Given the description of an element on the screen output the (x, y) to click on. 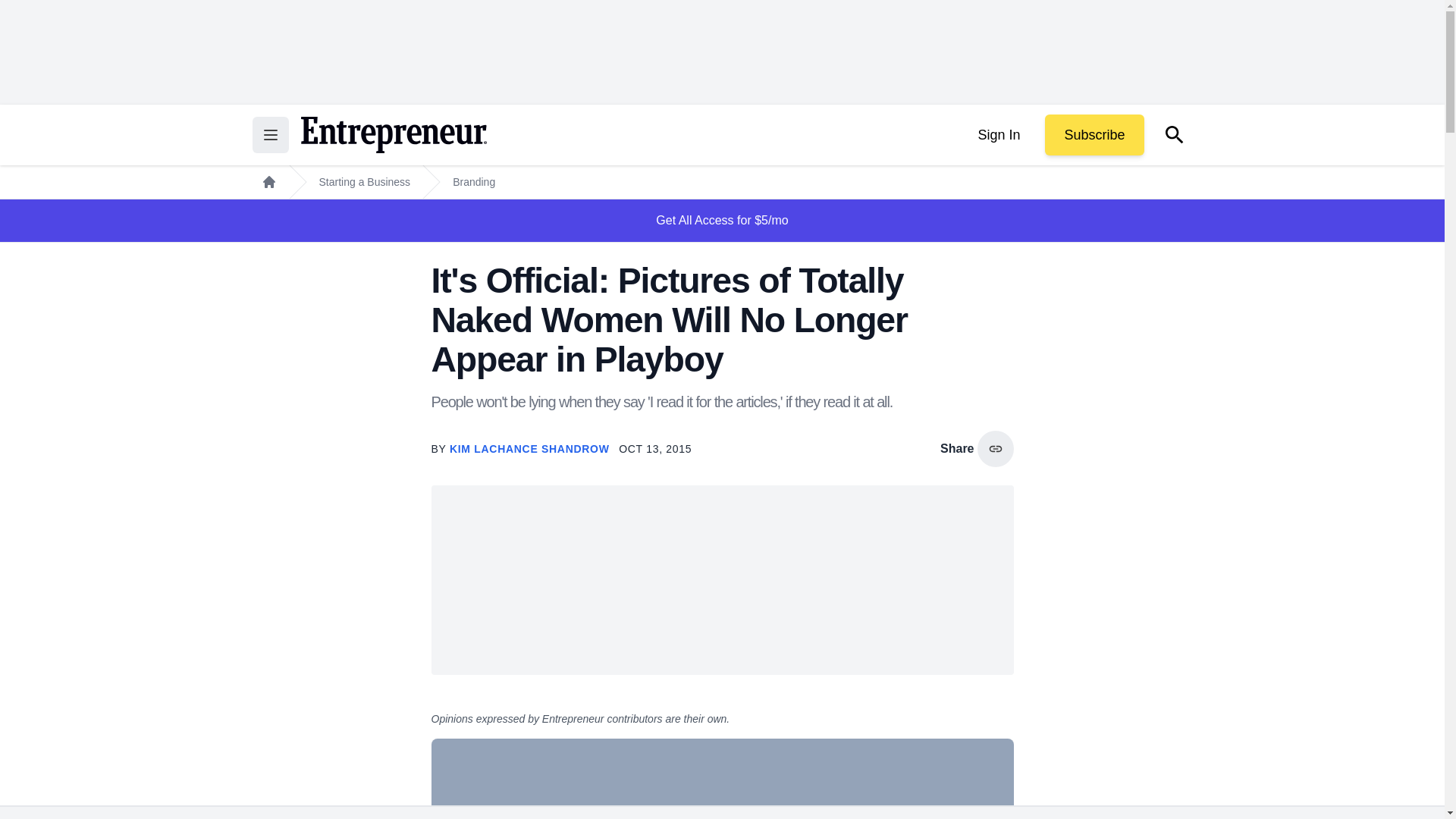
Return to the home page (392, 135)
copy (994, 448)
Sign In (998, 134)
Subscribe (1093, 134)
